Given the description of an element on the screen output the (x, y) to click on. 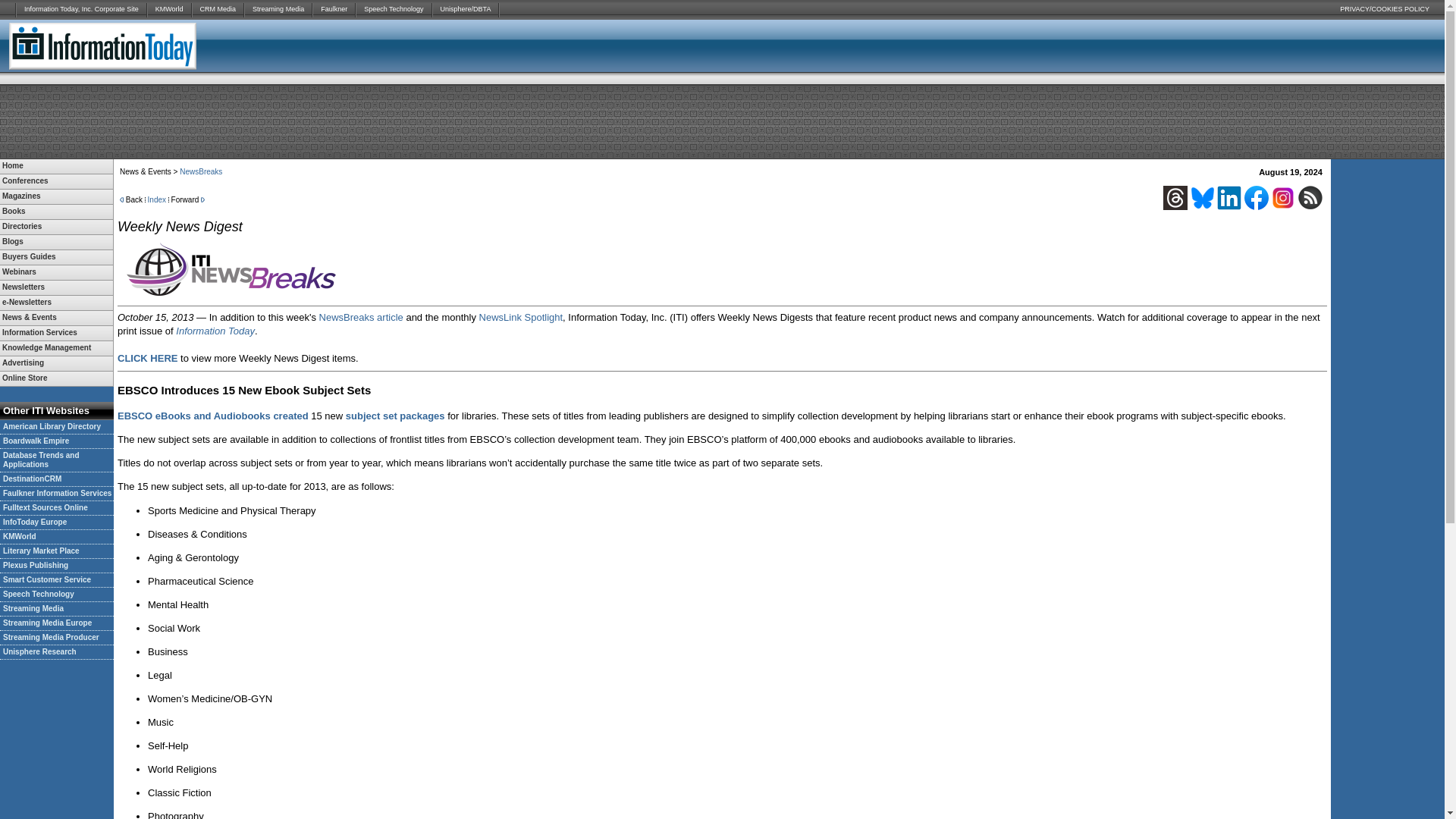
Speech Technology (393, 9)
Streaming Media (277, 9)
KMWorld (169, 9)
3rd party ad content (1263, 45)
Home (56, 165)
3rd party ad content (721, 120)
CRM Media (218, 9)
Information Today, Inc. Corporate Site (81, 9)
Faulkner (334, 9)
Conferences (56, 181)
